Given the description of an element on the screen output the (x, y) to click on. 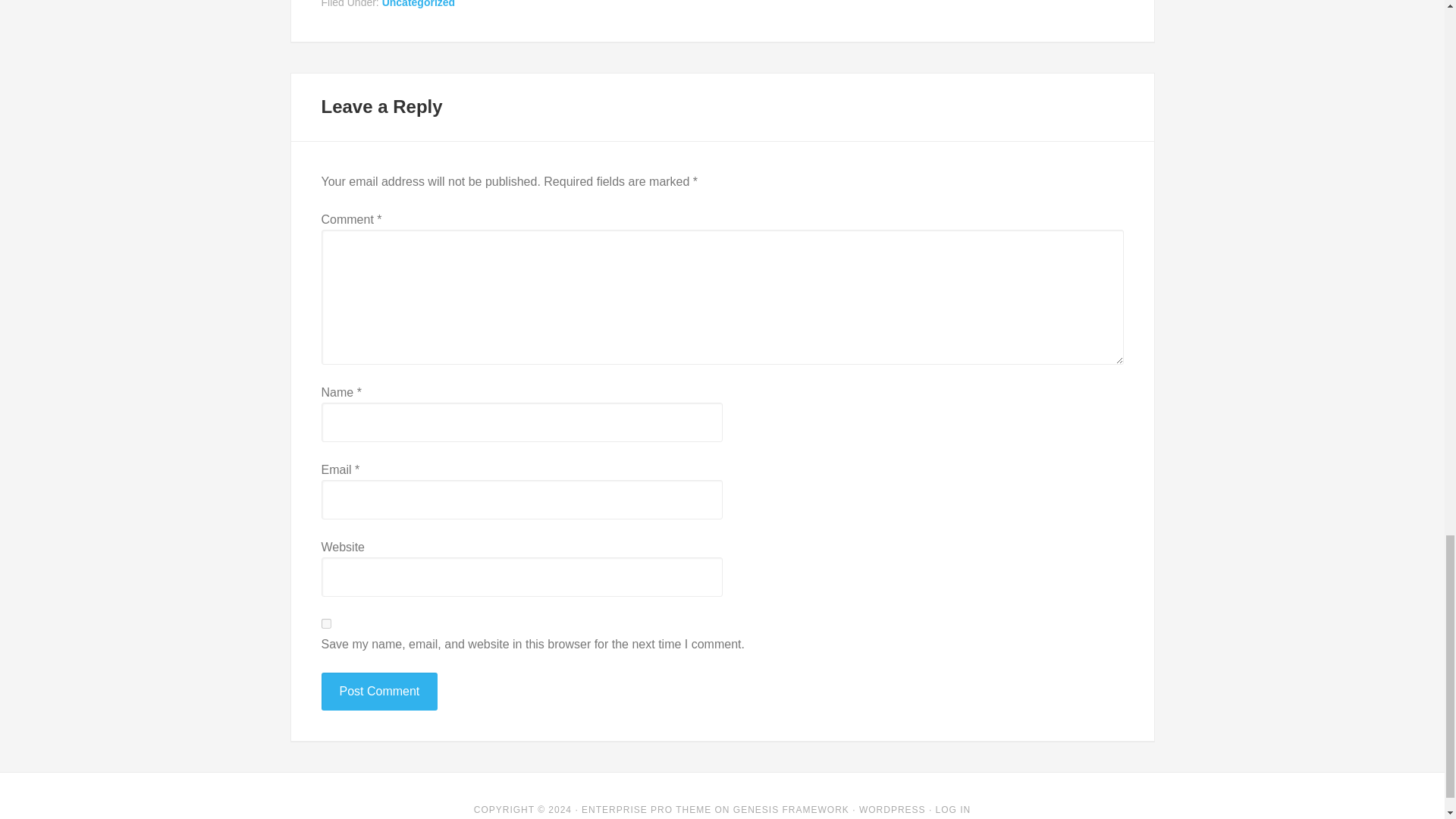
Post Comment (379, 691)
GENESIS FRAMEWORK (790, 809)
WORDPRESS (892, 809)
ENTERPRISE PRO THEME (645, 809)
LOG IN (953, 809)
yes (326, 623)
Post Comment (379, 691)
Uncategorized (417, 4)
